Given the description of an element on the screen output the (x, y) to click on. 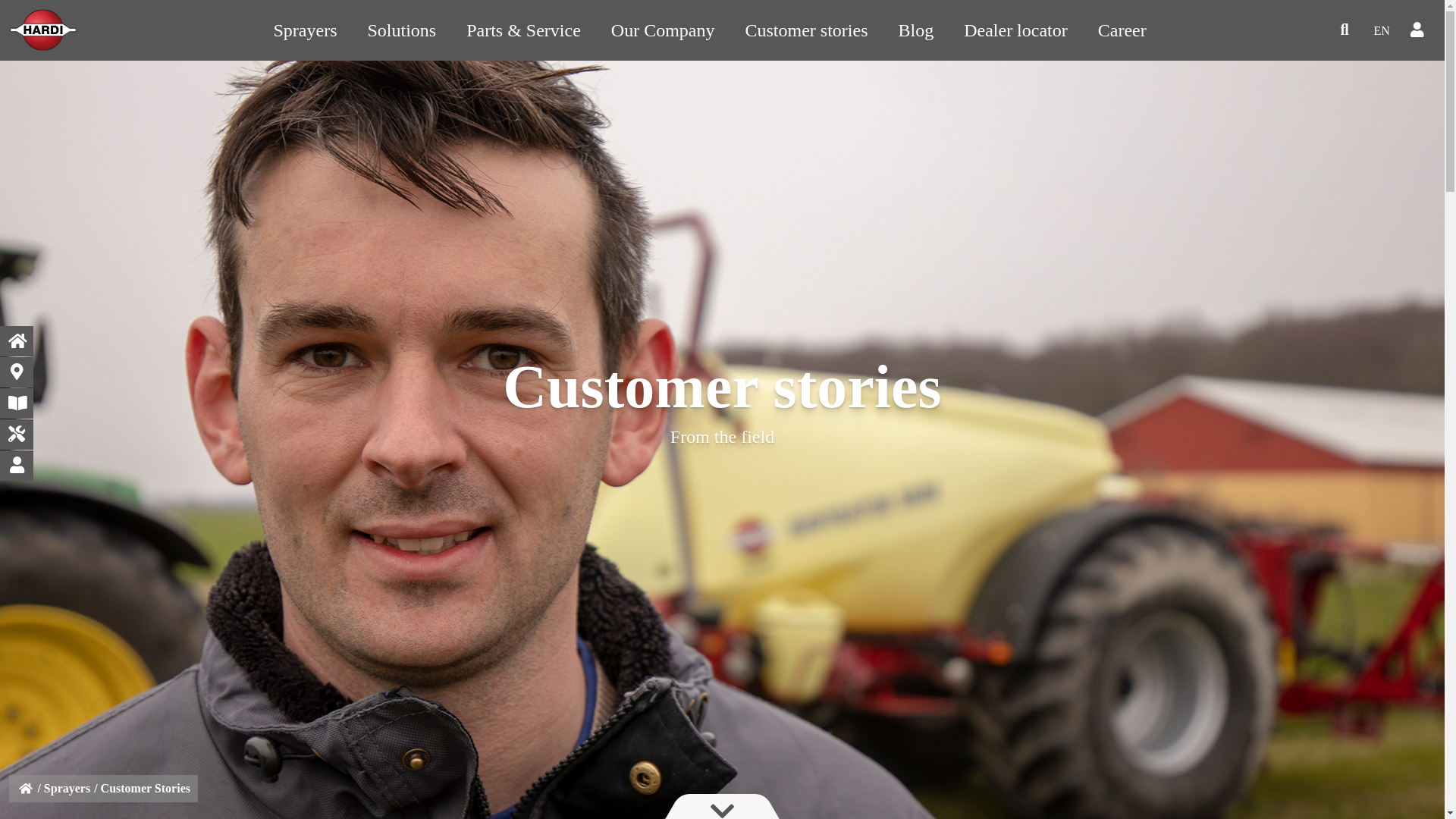
Solutions (400, 29)
Sprayers (304, 29)
